Given the description of an element on the screen output the (x, y) to click on. 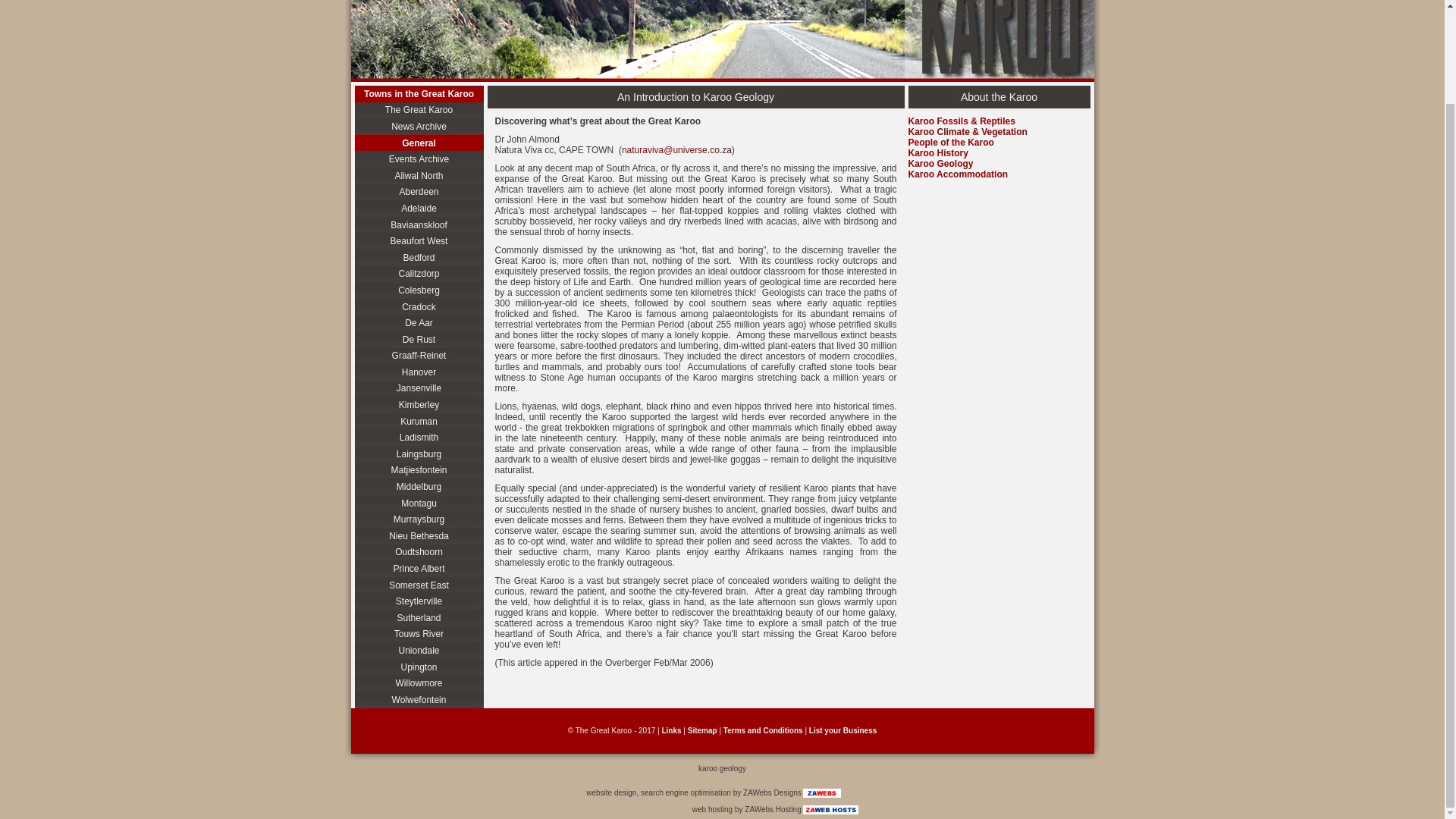
Upington (419, 667)
Matjiesfontein (419, 470)
Ladismith (419, 437)
Beaufort West (419, 240)
Cradock (419, 306)
Jansenville (419, 388)
Steytlerville (419, 600)
Kimberley (419, 404)
Calitzdorp (419, 274)
Kuruman (419, 421)
